Given the description of an element on the screen output the (x, y) to click on. 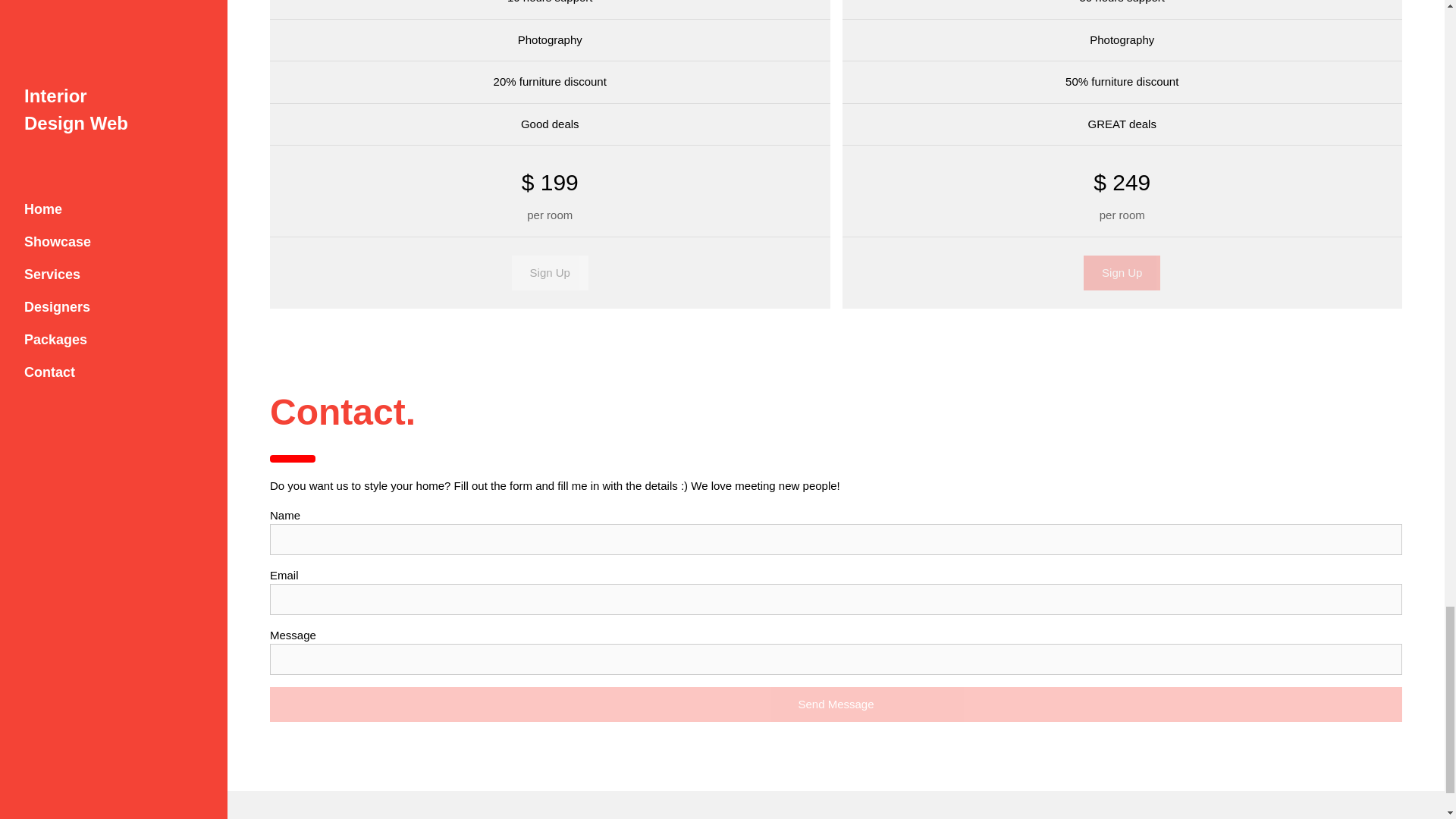
Sign Up (1121, 273)
Send Message (835, 704)
Sign Up (550, 273)
